Given the description of an element on the screen output the (x, y) to click on. 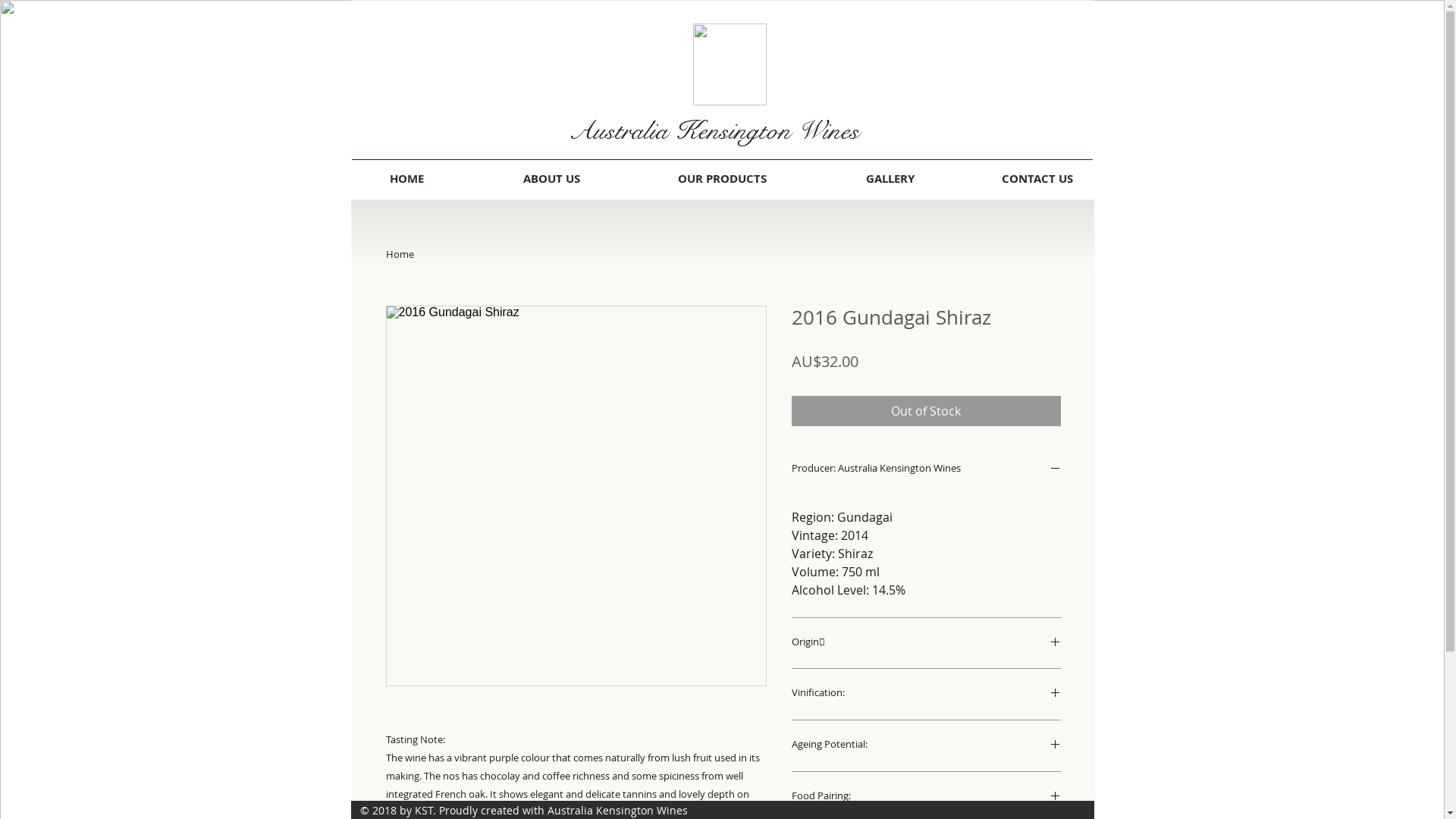
Producer: Australia Kensington Wines Element type: text (925, 469)
Australia Kensington Wines Element type: text (713, 130)
Out of Stock Element type: text (925, 410)
Vinification: Element type: text (925, 694)
ABOUT US Element type: text (550, 178)
Ageing Potential: Element type: text (925, 745)
OUR PRODUCTS Element type: text (721, 178)
HOME Element type: text (406, 178)
Home Element type: text (399, 253)
GALLERY Element type: text (889, 178)
Food Pairing: Element type: text (925, 797)
CONTACT US Element type: text (1036, 178)
